Given the description of an element on the screen output the (x, y) to click on. 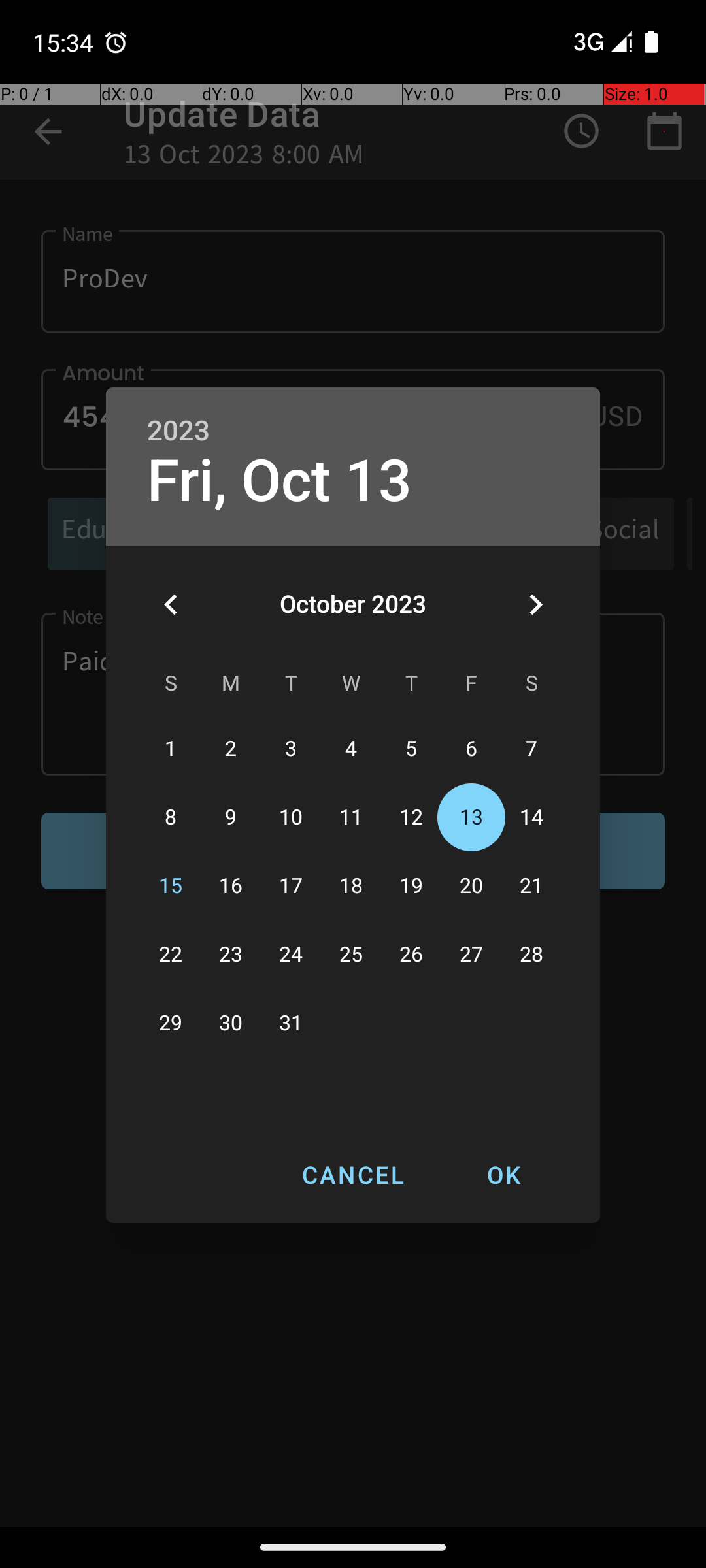
Fri, Oct 13 Element type: android.widget.TextView (279, 480)
